Given the description of an element on the screen output the (x, y) to click on. 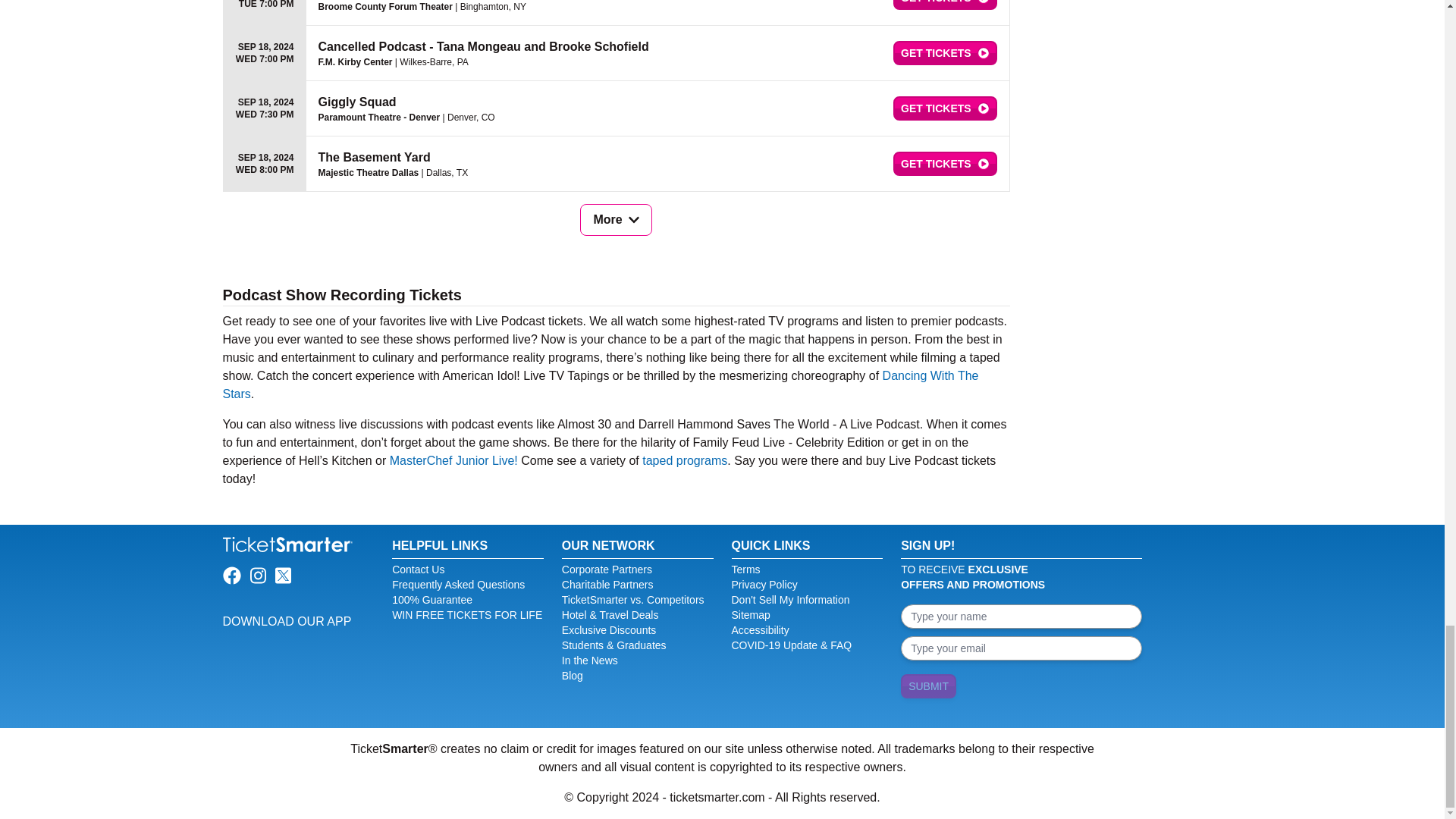
taped program tickets (684, 460)
MasterChef Junior Live! Tickets (454, 460)
Dancing With The Stars Tickets (600, 384)
